Given the description of an element on the screen output the (x, y) to click on. 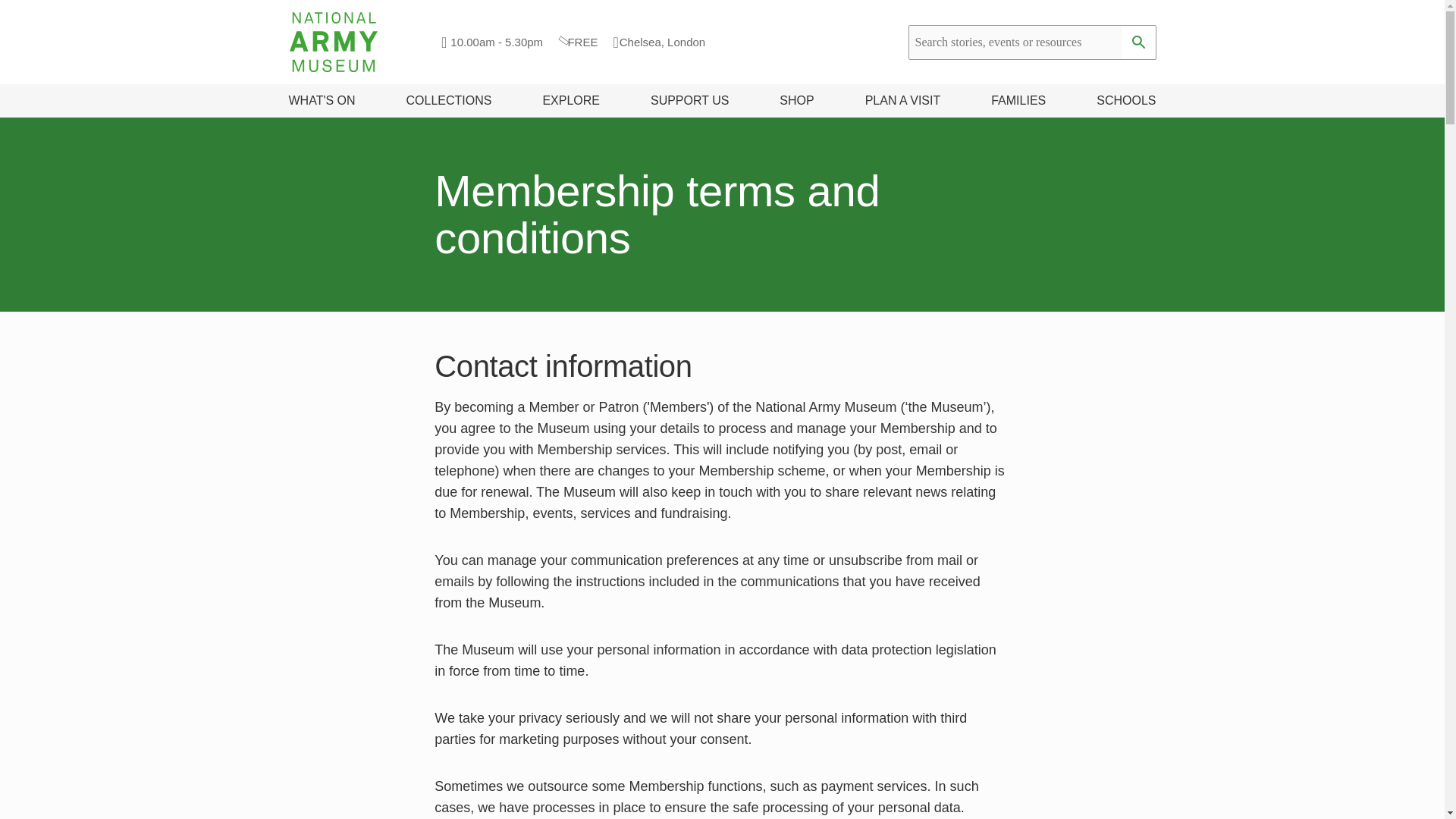
PLAN A VISIT (902, 100)
FAMILIES (1018, 100)
SCHOOLS (1126, 100)
COLLECTIONS (449, 100)
WHAT'S ON (321, 100)
EXPLORE (570, 100)
SUPPORT US (689, 100)
Search (1138, 41)
